Given the description of an element on the screen output the (x, y) to click on. 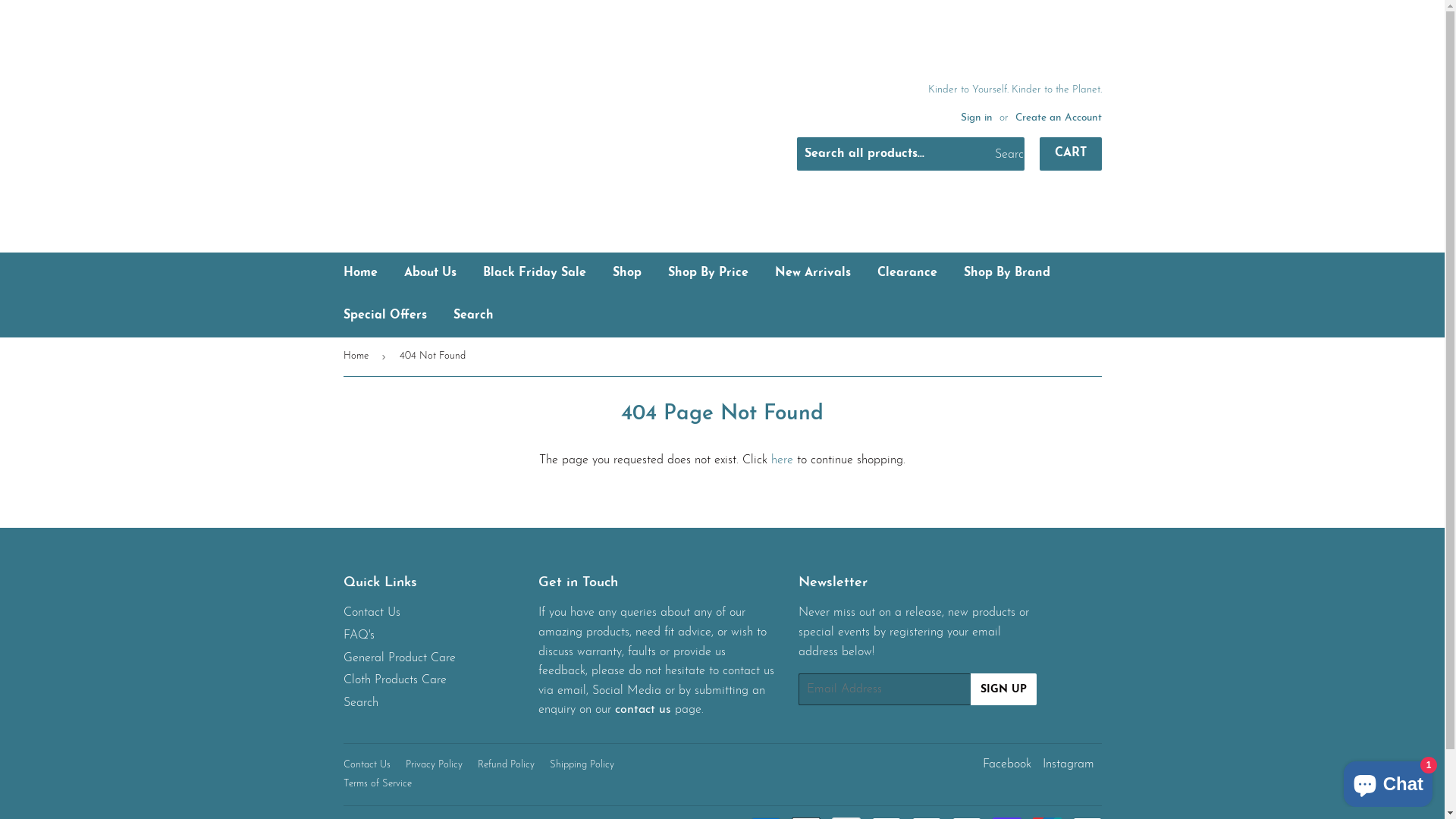
FAQ's Element type: text (357, 635)
CART Element type: text (1069, 153)
Search Element type: text (359, 702)
Search Element type: text (1007, 154)
Clearance Element type: text (907, 273)
Sign in Element type: text (975, 117)
Contact Us Element type: text (370, 612)
SIGN UP Element type: text (1003, 689)
contact us Element type: text (643, 709)
Shop By Brand Element type: text (1006, 273)
Search Element type: text (472, 315)
Terms of Service Element type: text (376, 783)
Shop By Price Element type: text (707, 273)
General Product Care Element type: text (398, 658)
Facebook Element type: text (1006, 764)
About Us Element type: text (429, 273)
Create an Account Element type: text (1057, 117)
New Arrivals Element type: text (811, 273)
Shipping Policy Element type: text (581, 764)
Cloth Products Care Element type: text (393, 680)
Shopify online store chat Element type: hover (1388, 780)
Refund Policy Element type: text (505, 764)
here Element type: text (782, 460)
Home Element type: text (357, 356)
Shop Element type: text (626, 273)
Special Offers Element type: text (385, 315)
Home Element type: text (360, 273)
Instagram Element type: text (1067, 764)
Privacy Policy Element type: text (432, 764)
Contact Us Element type: text (365, 764)
Black Friday Sale Element type: text (534, 273)
